Given the description of an element on the screen output the (x, y) to click on. 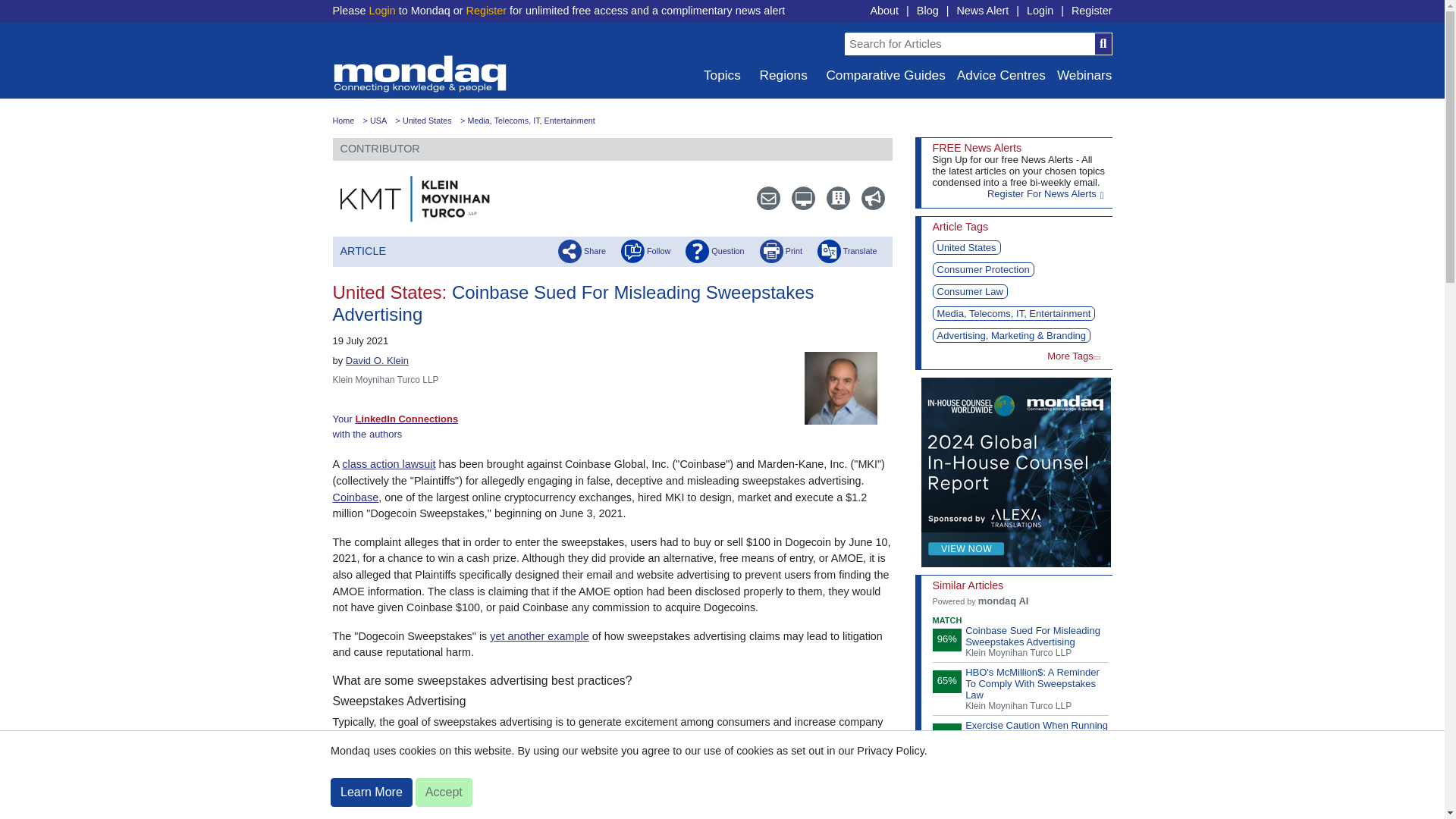
More from Klein Moynihan Turco LLP  (830, 197)
Register (485, 10)
Email Klein Moynihan Turco LLP  (761, 197)
View this authors biography on their website (847, 386)
Login (1039, 10)
News about Klein Moynihan Turco LLP  (865, 197)
Click to visit to Klein Moynihan Turco LLP  Website (415, 198)
About (883, 10)
Blog (928, 10)
Register (1091, 10)
Login (381, 10)
View this authors biography on their website (377, 360)
News Alert (982, 10)
Topics   (720, 75)
ICW Report - AP (1014, 472)
